Given the description of an element on the screen output the (x, y) to click on. 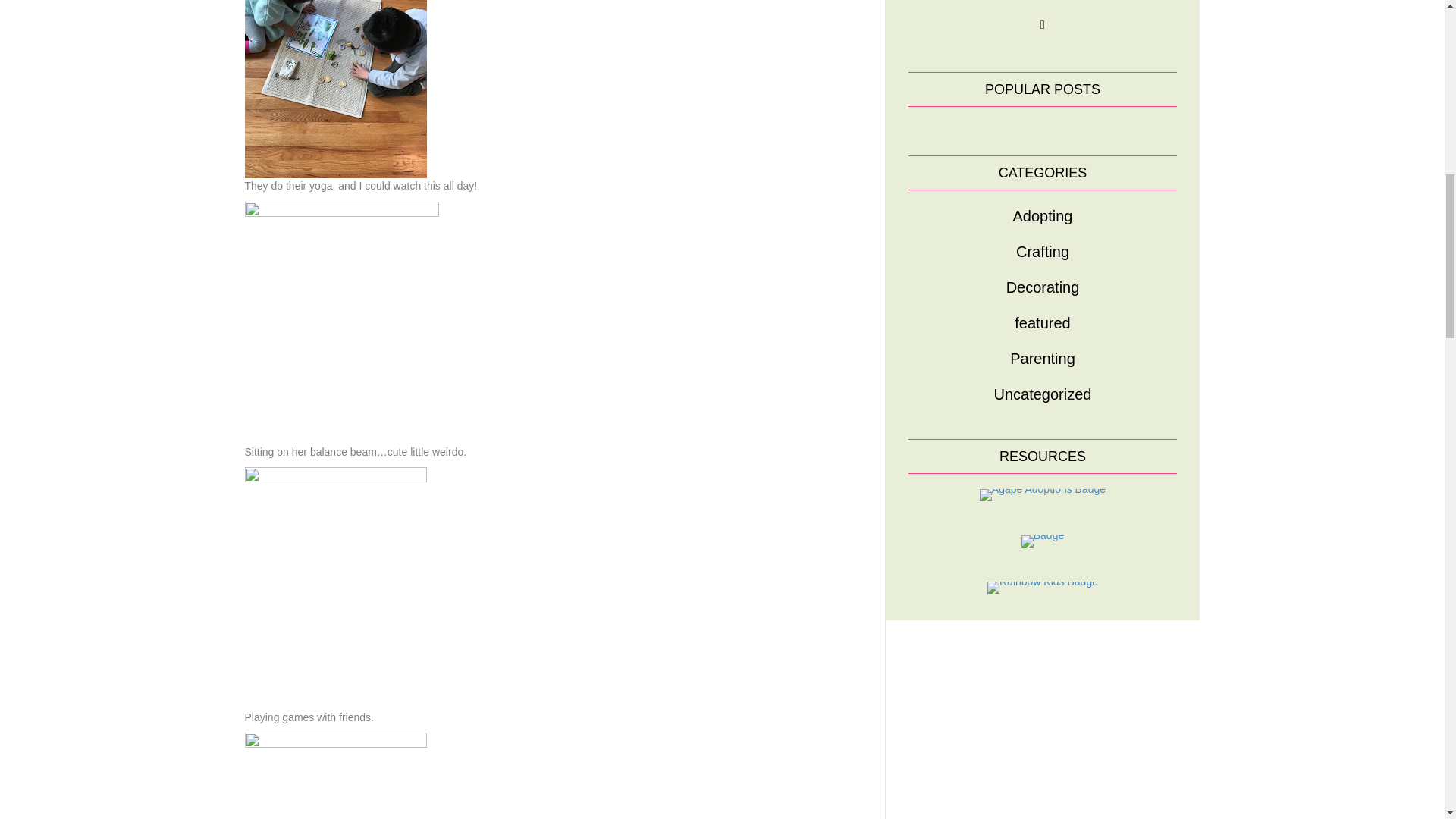
Badge (1043, 540)
RainbowKidsBadge (1042, 586)
AgapeAdoptionsBadge (1042, 494)
